Given the description of an element on the screen output the (x, y) to click on. 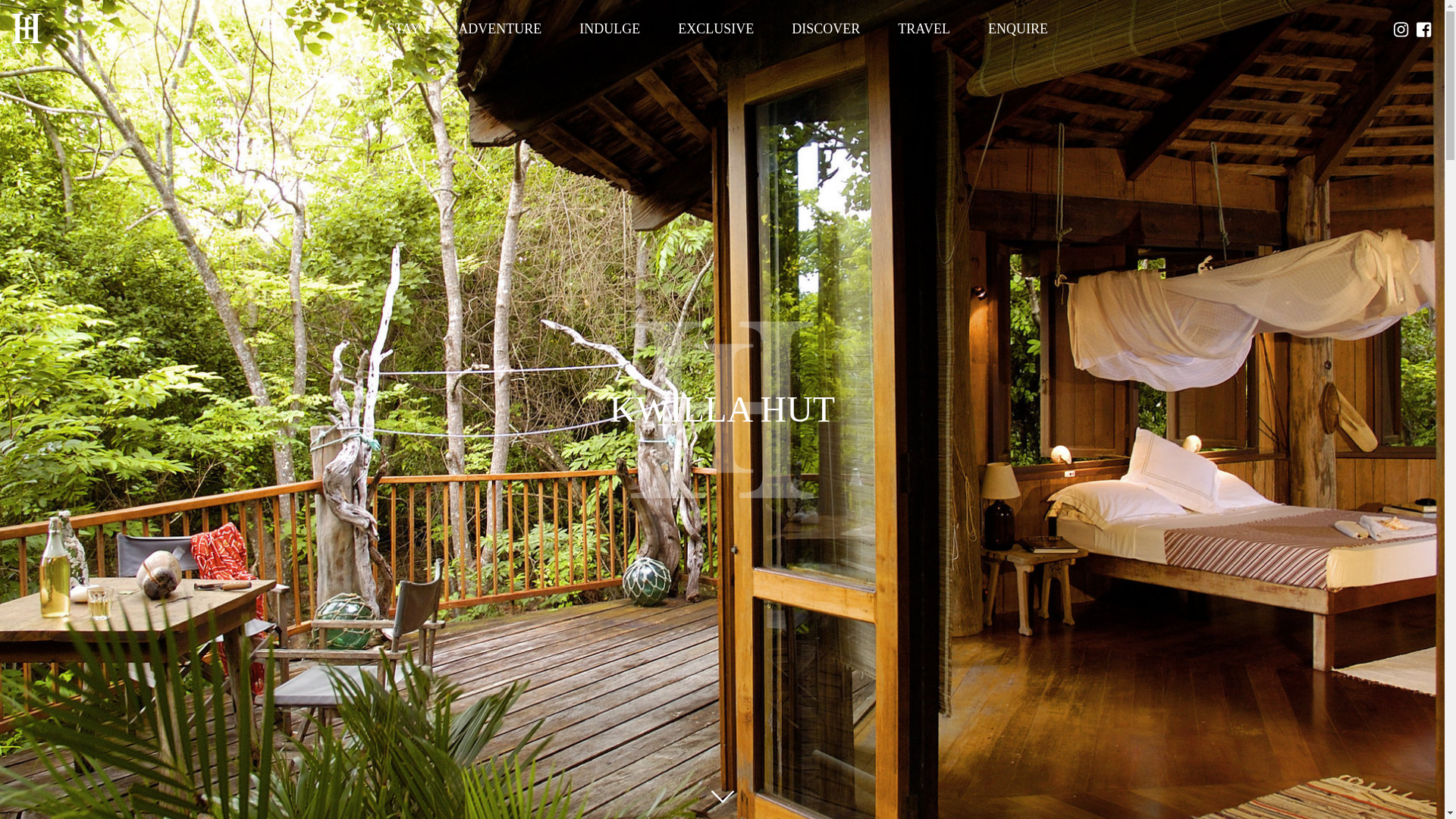
Follow Haggerstone Island on Instagram Element type: hover (1400, 30)
TRAVEL Element type: text (923, 28)
ADVENTURE Element type: text (499, 28)
INDULGE Element type: text (609, 28)
ENQUIRE Element type: text (1017, 28)
EXCLUSIVE Element type: text (715, 28)
Find Haggerstone Island on Facebook Element type: hover (1423, 30)
DISCOVER Element type: text (825, 28)
STAY Element type: text (403, 28)
